Given the description of an element on the screen output the (x, y) to click on. 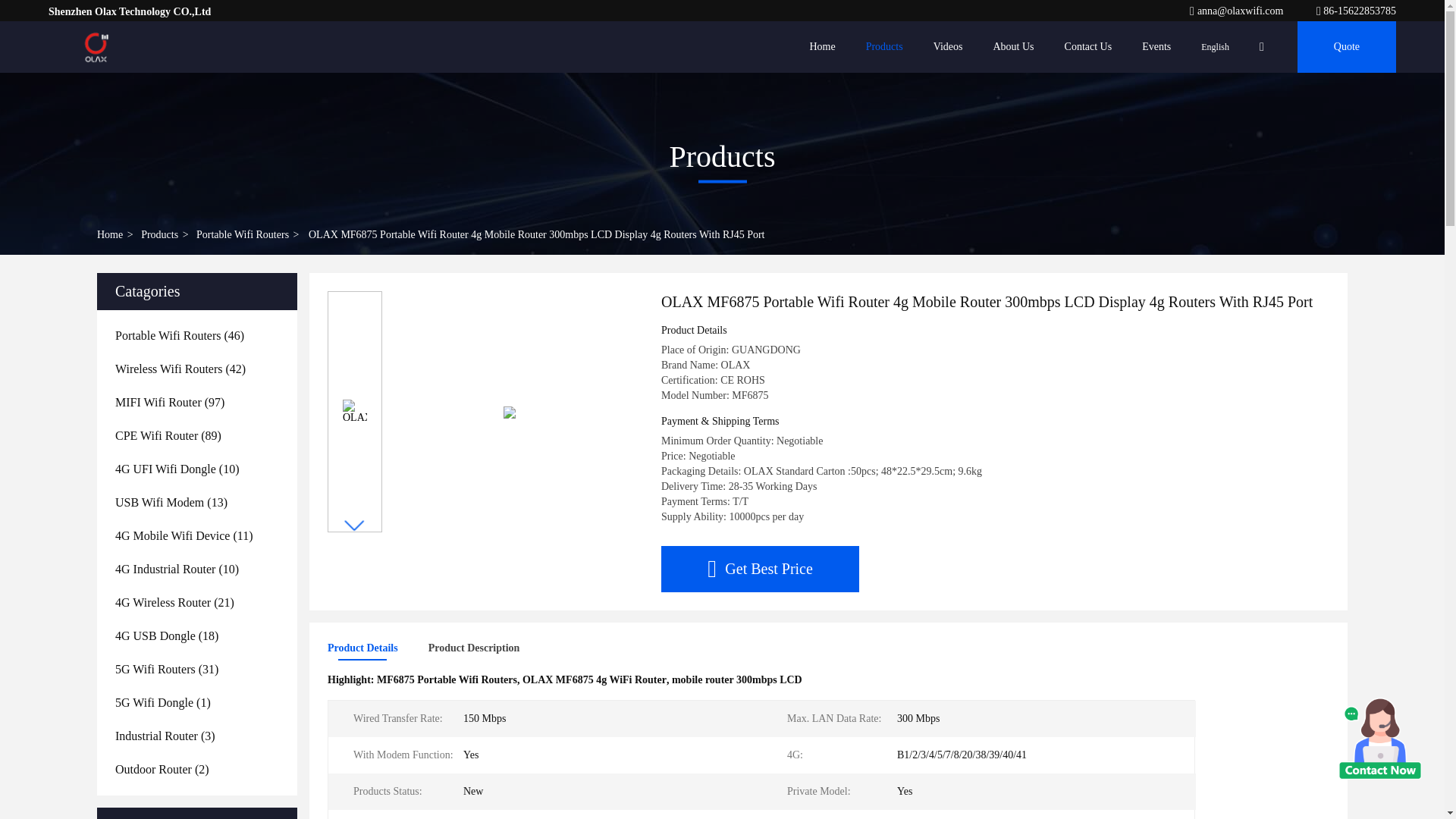
Shenzhen Olax Technology CO.,Ltd (96, 46)
Shenzhen Olax Technology CO.,Ltd (1237, 10)
86-15622853785 (1356, 10)
Shenzhen Olax Technology CO.,Ltd (1356, 10)
Contact Us (1088, 46)
